Given the description of an element on the screen output the (x, y) to click on. 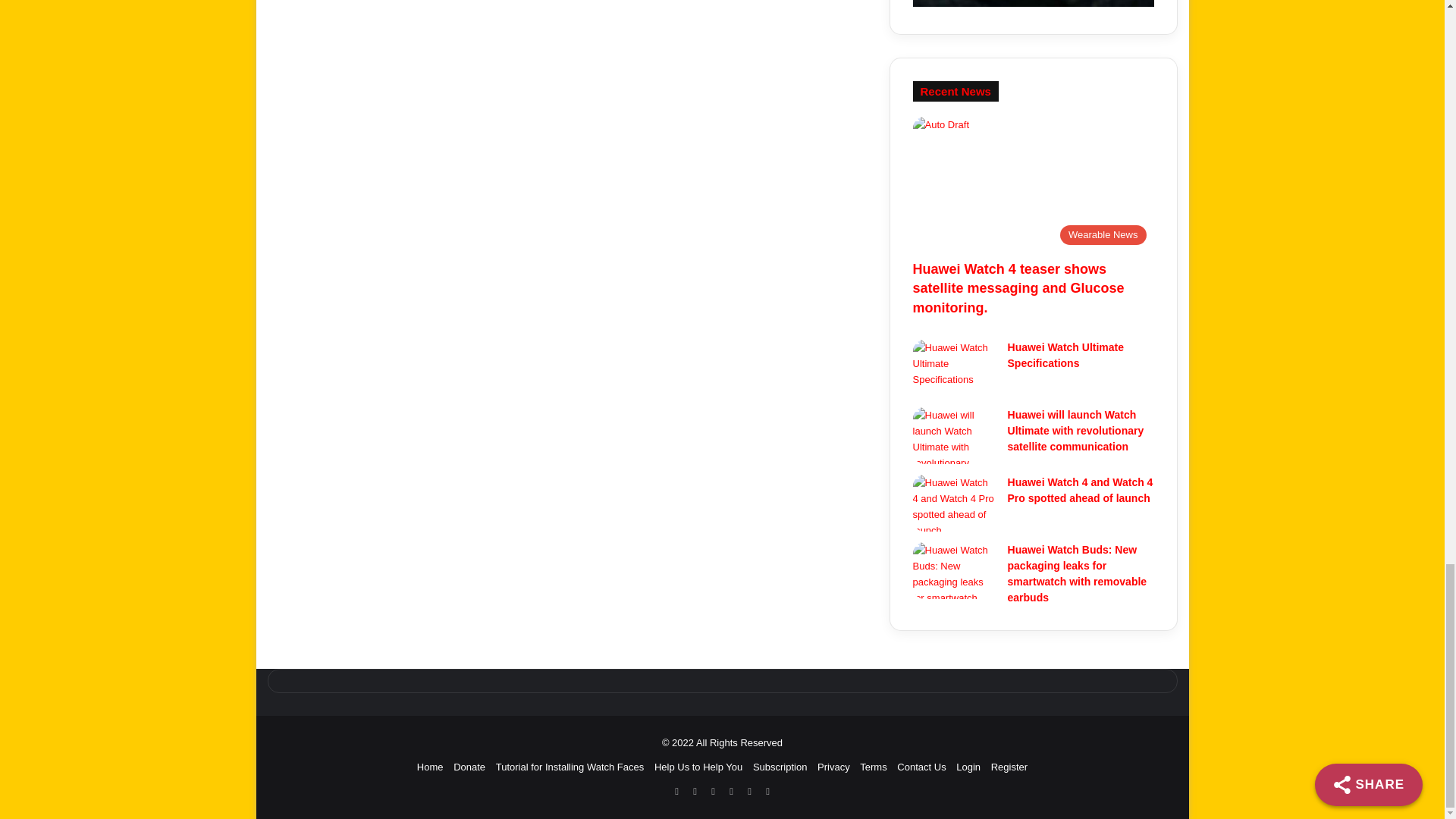
Wearable News (1033, 184)
